Given the description of an element on the screen output the (x, y) to click on. 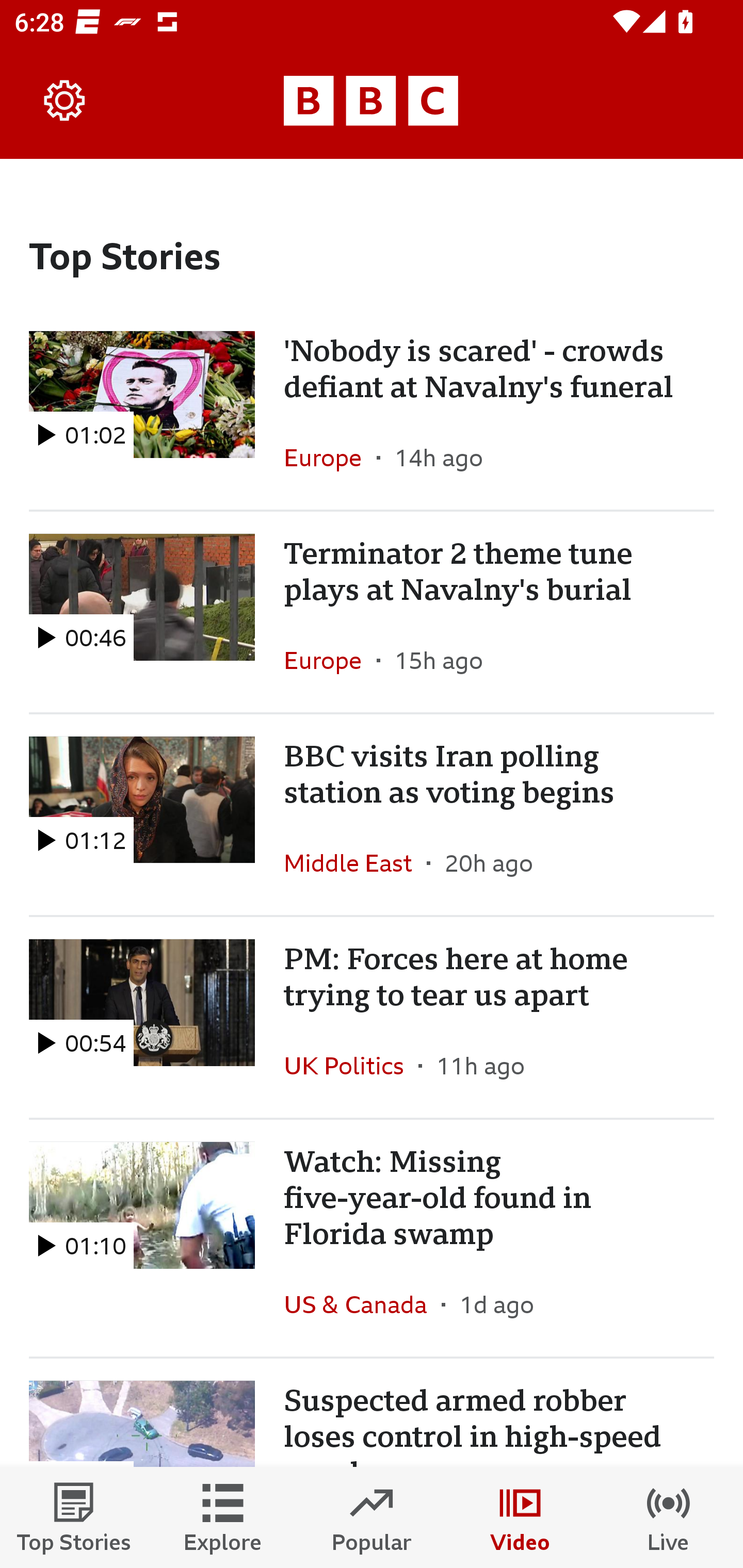
Settings (64, 100)
Europe In the section Europe (329, 457)
Europe In the section Europe (329, 659)
Middle East In the section Middle East (354, 862)
UK Politics In the section UK Politics (350, 1064)
US & Canada In the section US & Canada (362, 1304)
Top Stories (74, 1517)
Explore (222, 1517)
Popular (371, 1517)
Live (668, 1517)
